Given the description of an element on the screen output the (x, y) to click on. 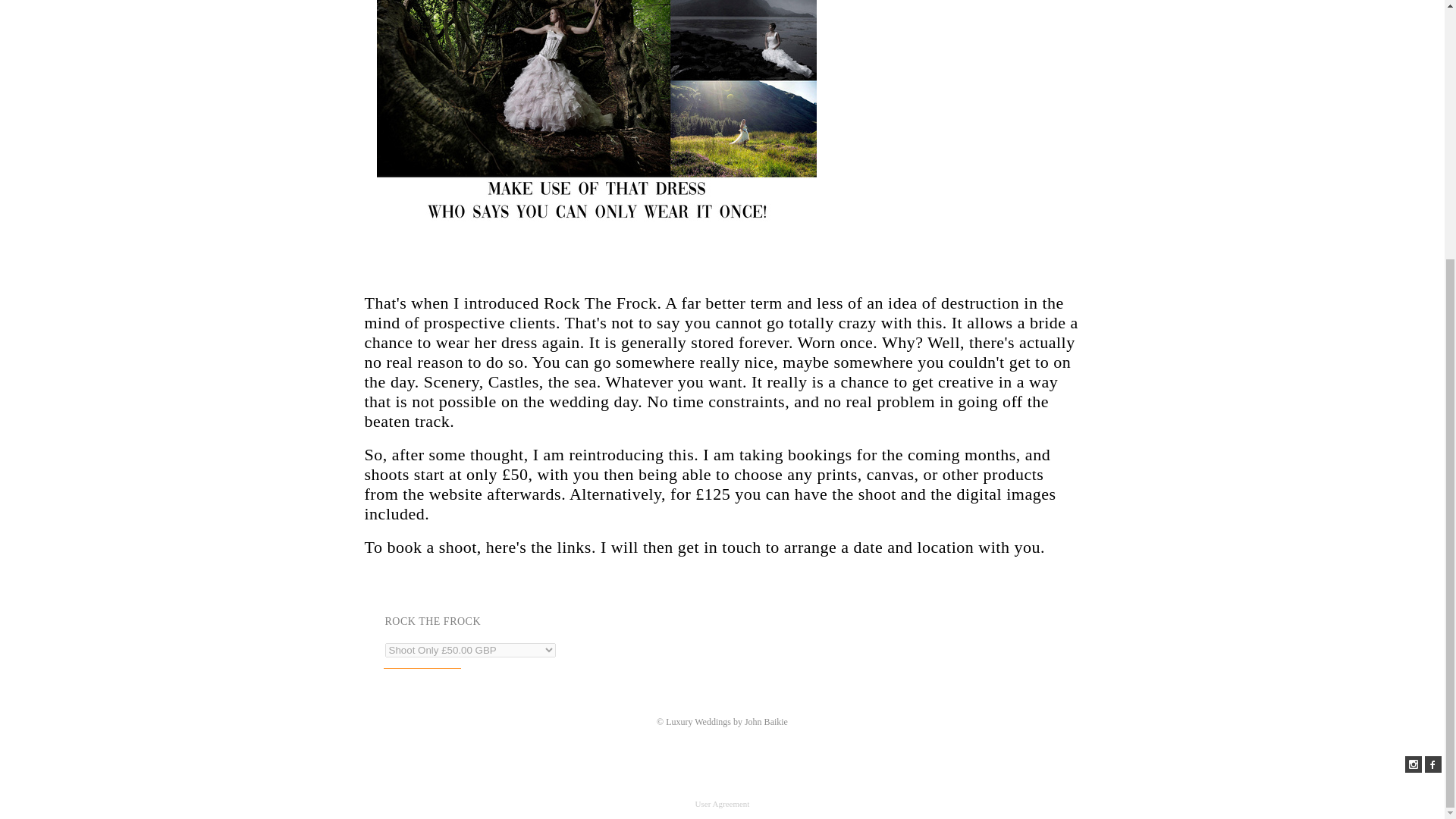
User Agreement (722, 803)
